Given the description of an element on the screen output the (x, y) to click on. 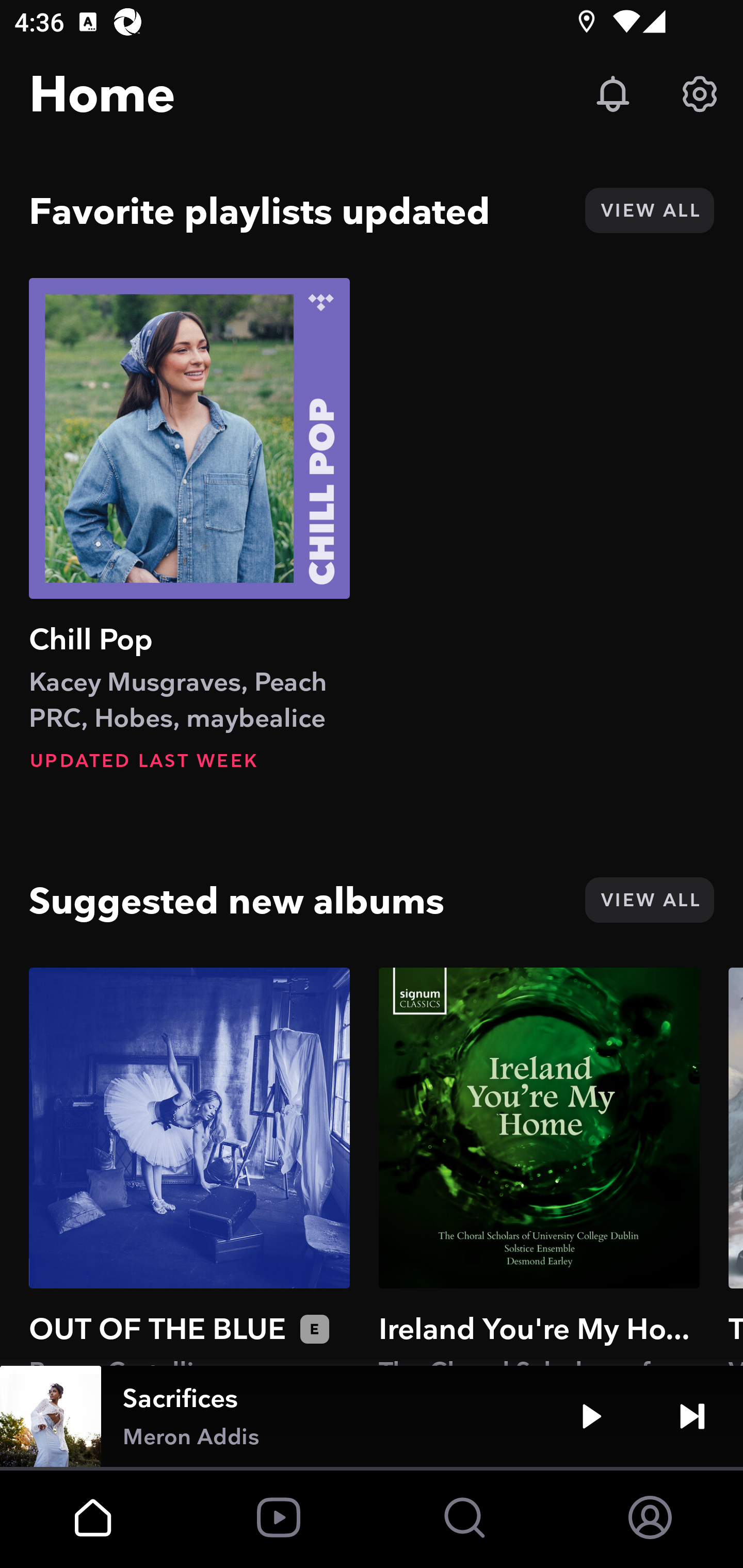
Updates (612, 93)
Settings (699, 93)
VIEW ALL (649, 210)
VIEW ALL (649, 899)
OUT OF THE BLUE Brynn Cartelli (188, 1166)
Sacrifices Meron Addis Play (371, 1416)
Play (590, 1416)
